Given the description of an element on the screen output the (x, y) to click on. 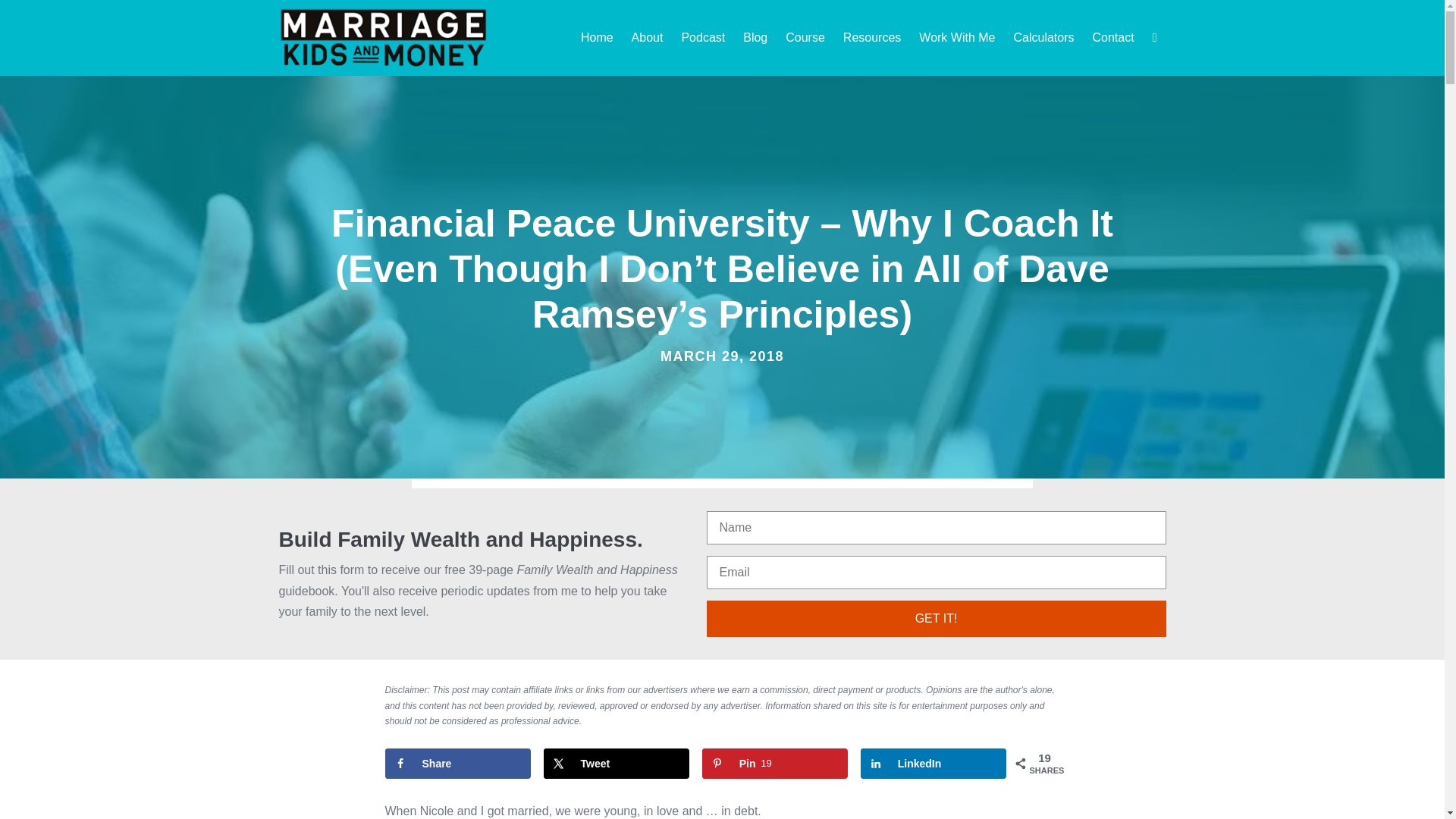
Course (804, 37)
Save to Pinterest (774, 763)
Work With Me (957, 37)
Blog (755, 37)
logo (383, 37)
Contact (1113, 37)
Share on X (616, 763)
Podcast (702, 37)
Share on Facebook (458, 763)
Resources (871, 37)
Calculators (1042, 37)
About (647, 37)
Share on LinkedIn (933, 763)
Home (596, 37)
